Given the description of an element on the screen output the (x, y) to click on. 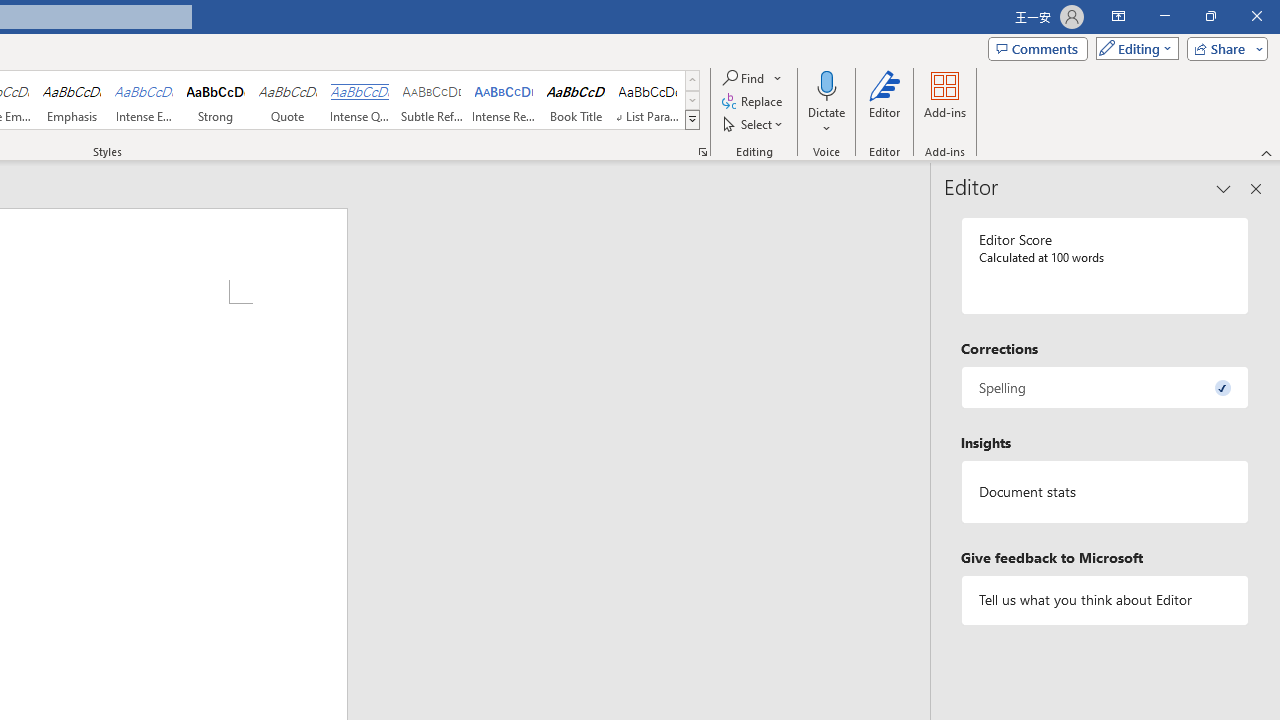
Document statistics (1105, 491)
Quote (287, 100)
Intense Reference (504, 100)
Book Title (575, 100)
Strong (216, 100)
